Given the description of an element on the screen output the (x, y) to click on. 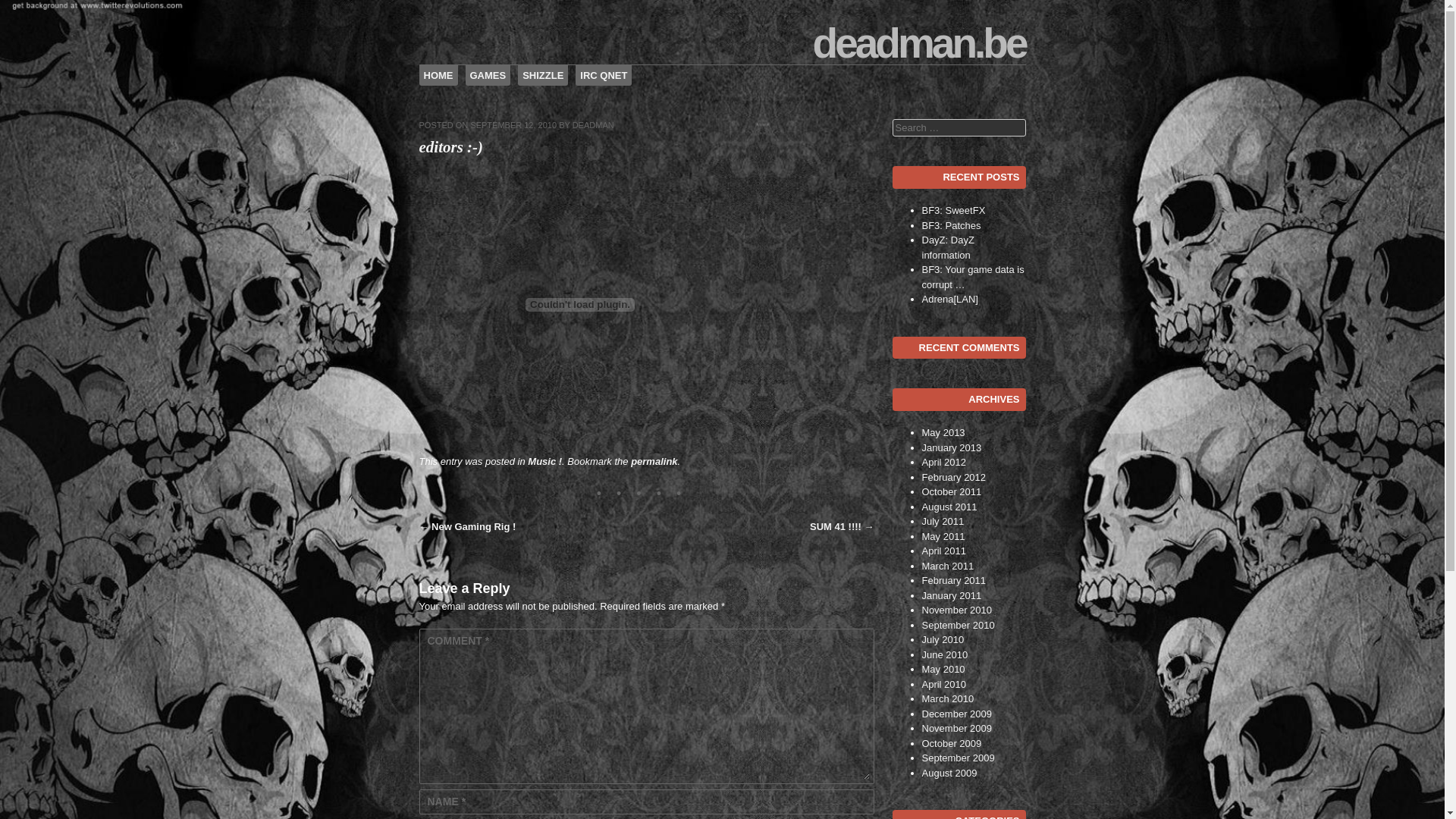
October 2009 Element type: text (952, 742)
Adrena[LAN] Element type: text (950, 298)
January 2011 Element type: text (952, 595)
March 2010 Element type: text (948, 698)
July 2011 Element type: text (943, 521)
February 2011 Element type: text (954, 580)
permalink Element type: text (653, 460)
October 2011 Element type: text (952, 491)
April 2012 Element type: text (944, 461)
BF3: SweetFX Element type: text (953, 210)
February 2012 Element type: text (954, 477)
April 2011 Element type: text (944, 550)
IRC QNET Element type: text (603, 75)
Search Element type: text (23, 13)
DayZ: DayZ information Element type: text (948, 247)
April 2010 Element type: text (944, 683)
August 2011 Element type: text (949, 505)
November 2010 Element type: text (957, 609)
deadman.be Element type: text (919, 42)
BF3: Patches Element type: text (951, 225)
September 2009 Element type: text (958, 757)
GAMES Element type: text (488, 75)
SKIP TO CONTENT Element type: text (467, 75)
January 2013 Element type: text (952, 446)
SHIZZLE Element type: text (542, 75)
May 2010 Element type: text (943, 668)
Music ! Element type: text (544, 460)
August 2009 Element type: text (949, 772)
SEPTEMBER 12, 2010 Element type: text (513, 124)
May 2013 Element type: text (943, 432)
June 2010 Element type: text (945, 654)
March 2011 Element type: text (948, 565)
November 2009 Element type: text (957, 728)
May 2011 Element type: text (943, 536)
HOME Element type: text (437, 75)
September 2010 Element type: text (958, 624)
December 2009 Element type: text (957, 713)
July 2010 Element type: text (943, 639)
DEADMAN Element type: text (593, 124)
